Given the description of an element on the screen output the (x, y) to click on. 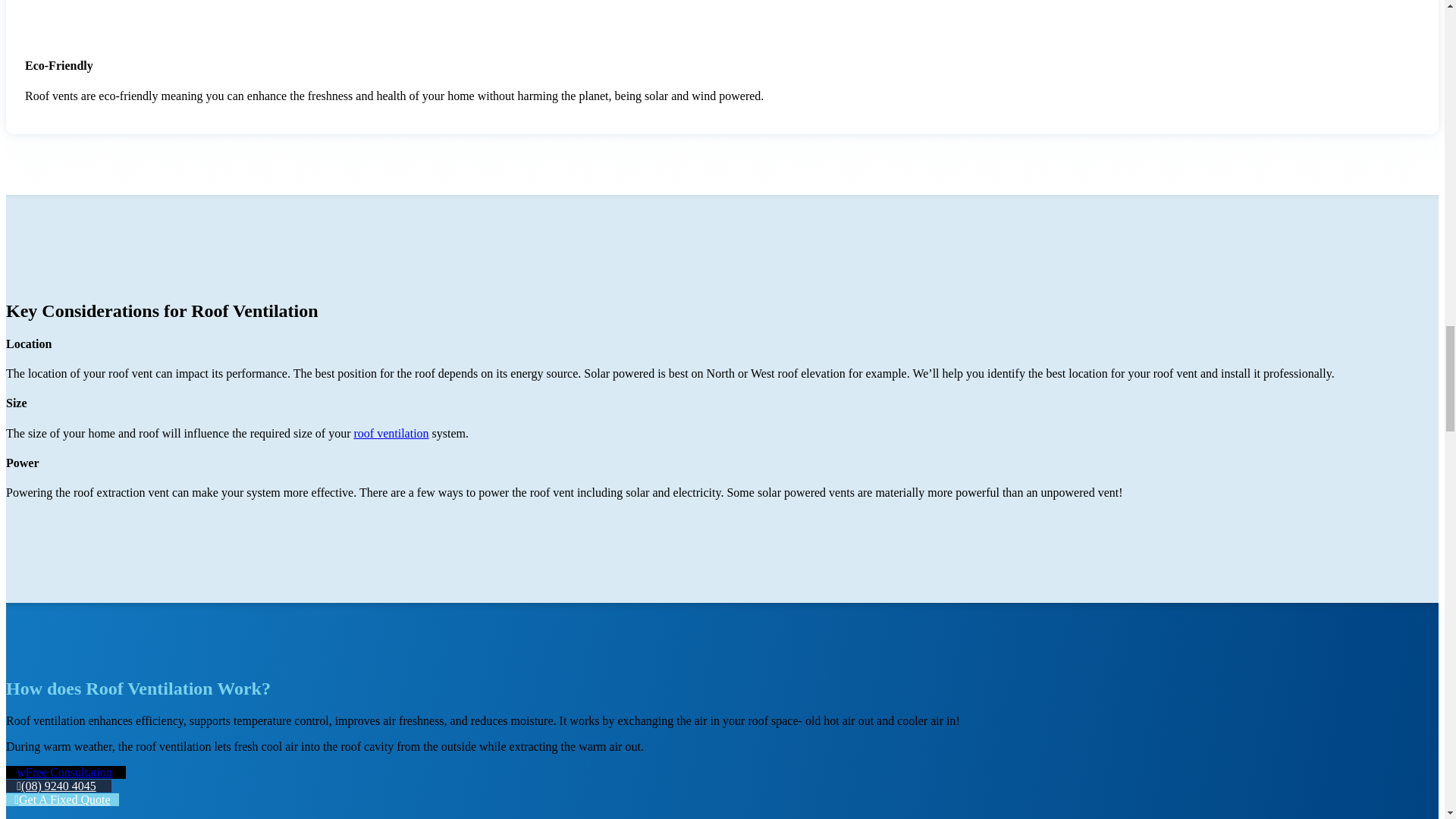
Free Consultation (65, 771)
Roof Ventilation (391, 432)
roof ventilation (391, 432)
Get A Fixed Quote (62, 799)
